Given the description of an element on the screen output the (x, y) to click on. 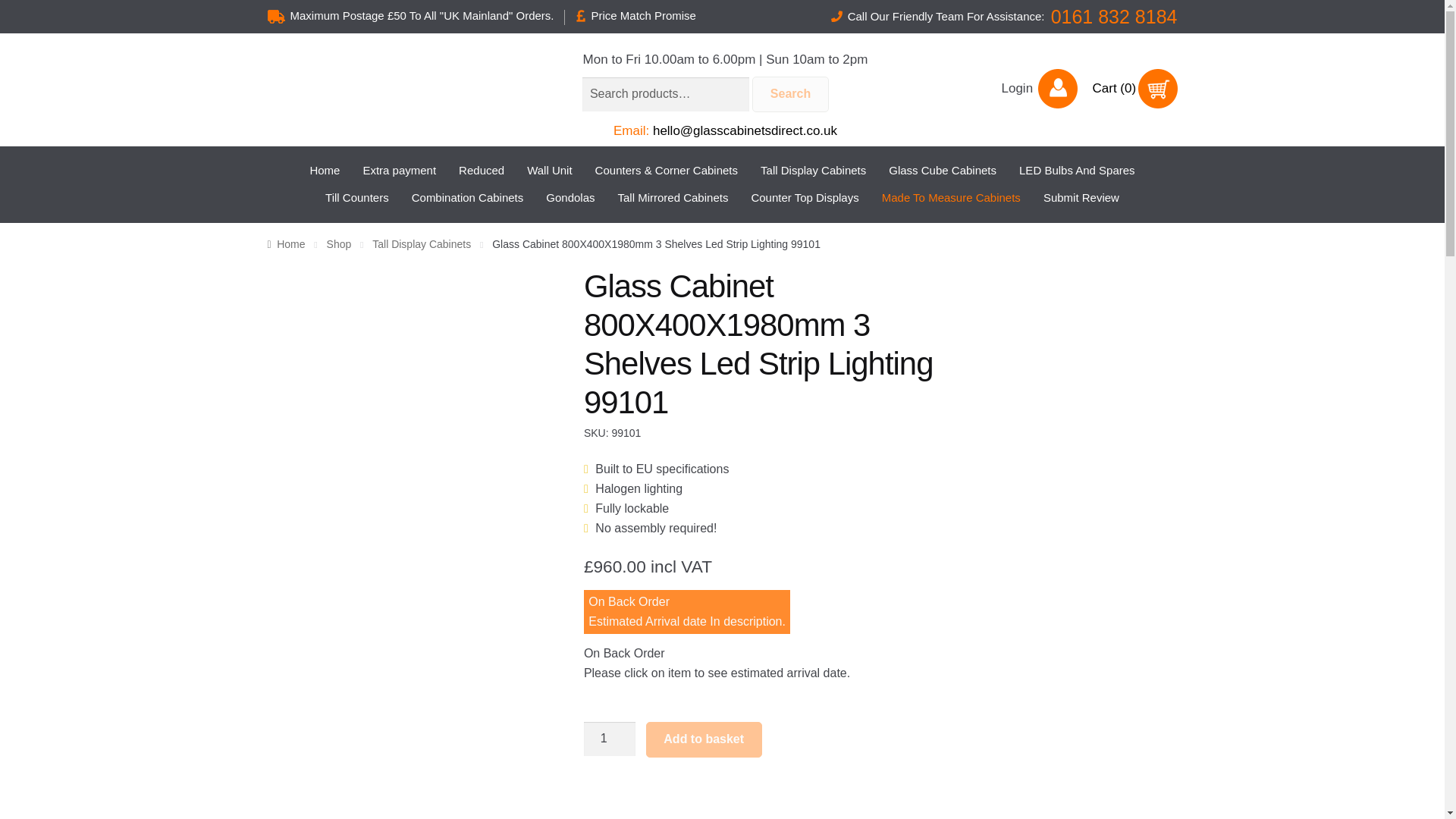
Search (790, 94)
Glass Cube Cabinets (941, 170)
Home (323, 170)
LED Bulbs And Spares (1077, 170)
Reduced (480, 170)
1 (608, 738)
Wall Unit (549, 170)
0161 832 8184 (1114, 16)
Tall Display Cabinets (813, 170)
Extra payment (398, 170)
